Given the description of an element on the screen output the (x, y) to click on. 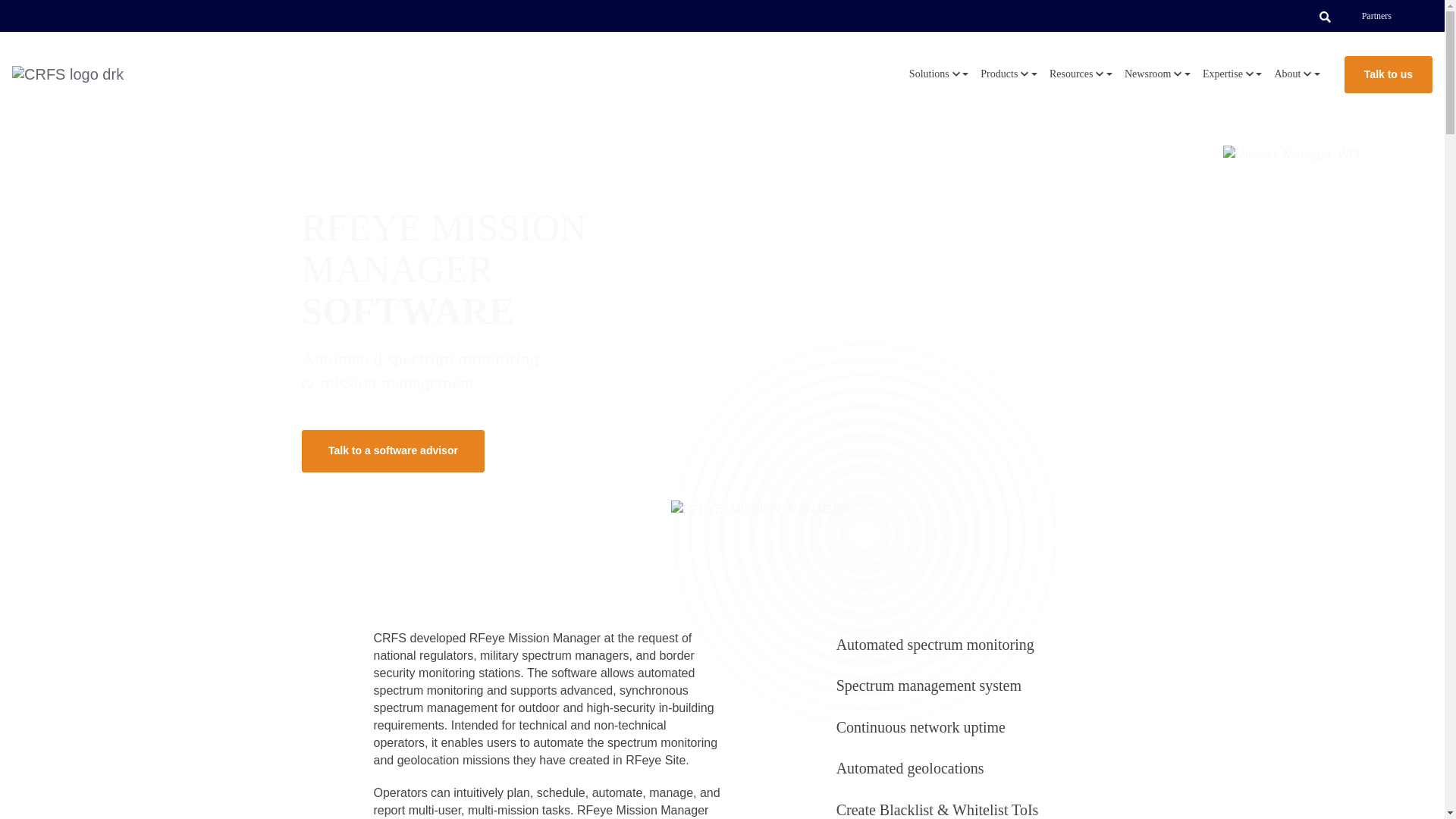
Partners (1376, 15)
Products (1008, 73)
Solutions (938, 73)
